Given the description of an element on the screen output the (x, y) to click on. 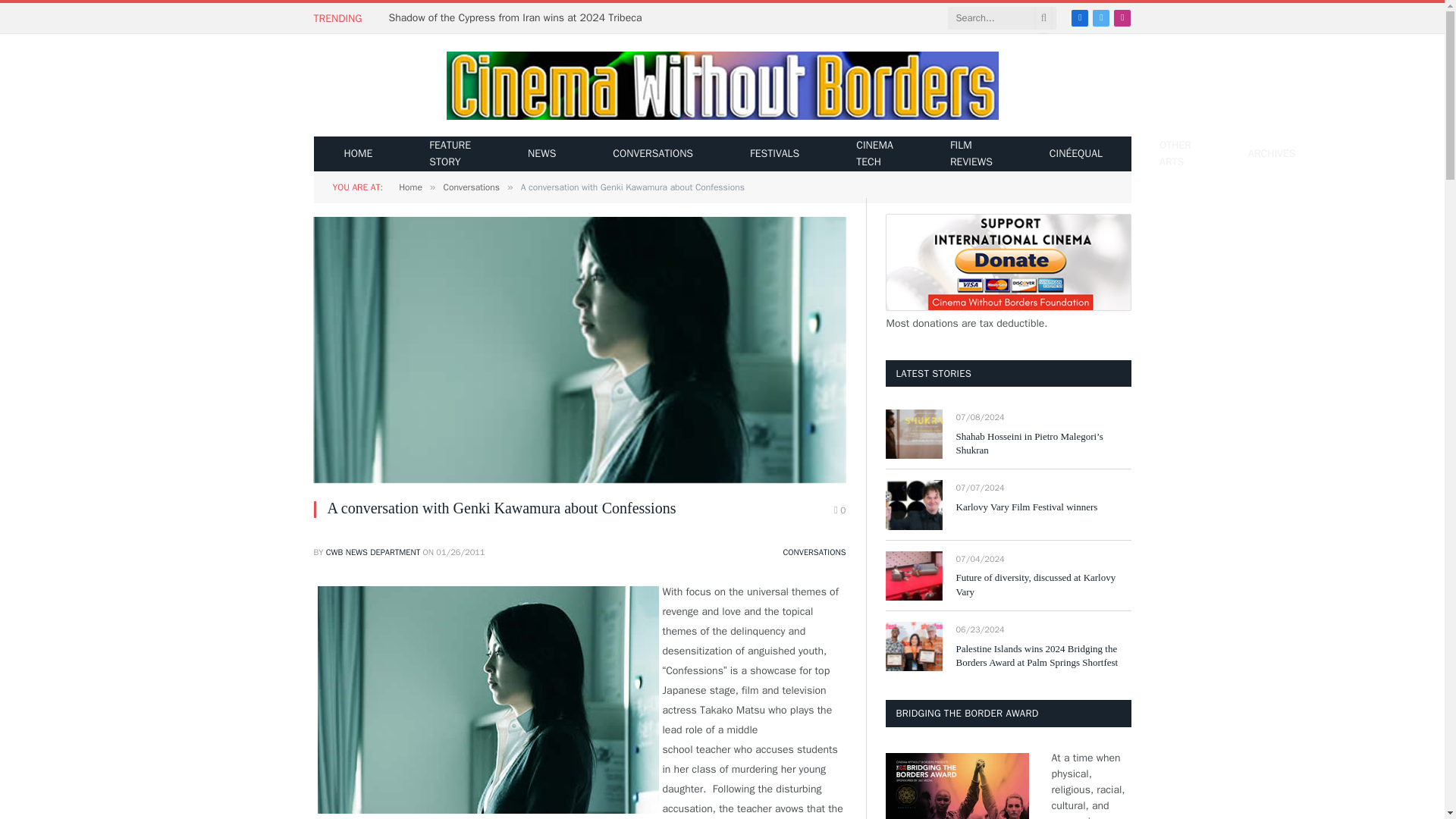
CINEMA TECH (874, 153)
Posts by CWB News Department (373, 552)
Instagram (1122, 17)
2011-01-26 (459, 552)
FESTIVALS (774, 153)
Conversations (470, 186)
ARCHIVES (1271, 153)
Facebook (1079, 17)
Shadow of the Cypress from Iran wins at 2024 Tribeca (518, 18)
CWB NEWS DEPARTMENT (373, 552)
CONVERSATIONS (652, 153)
Cinema Without Borders (721, 85)
CONVERSATIONS (814, 552)
HOME (357, 153)
